Given the description of an element on the screen output the (x, y) to click on. 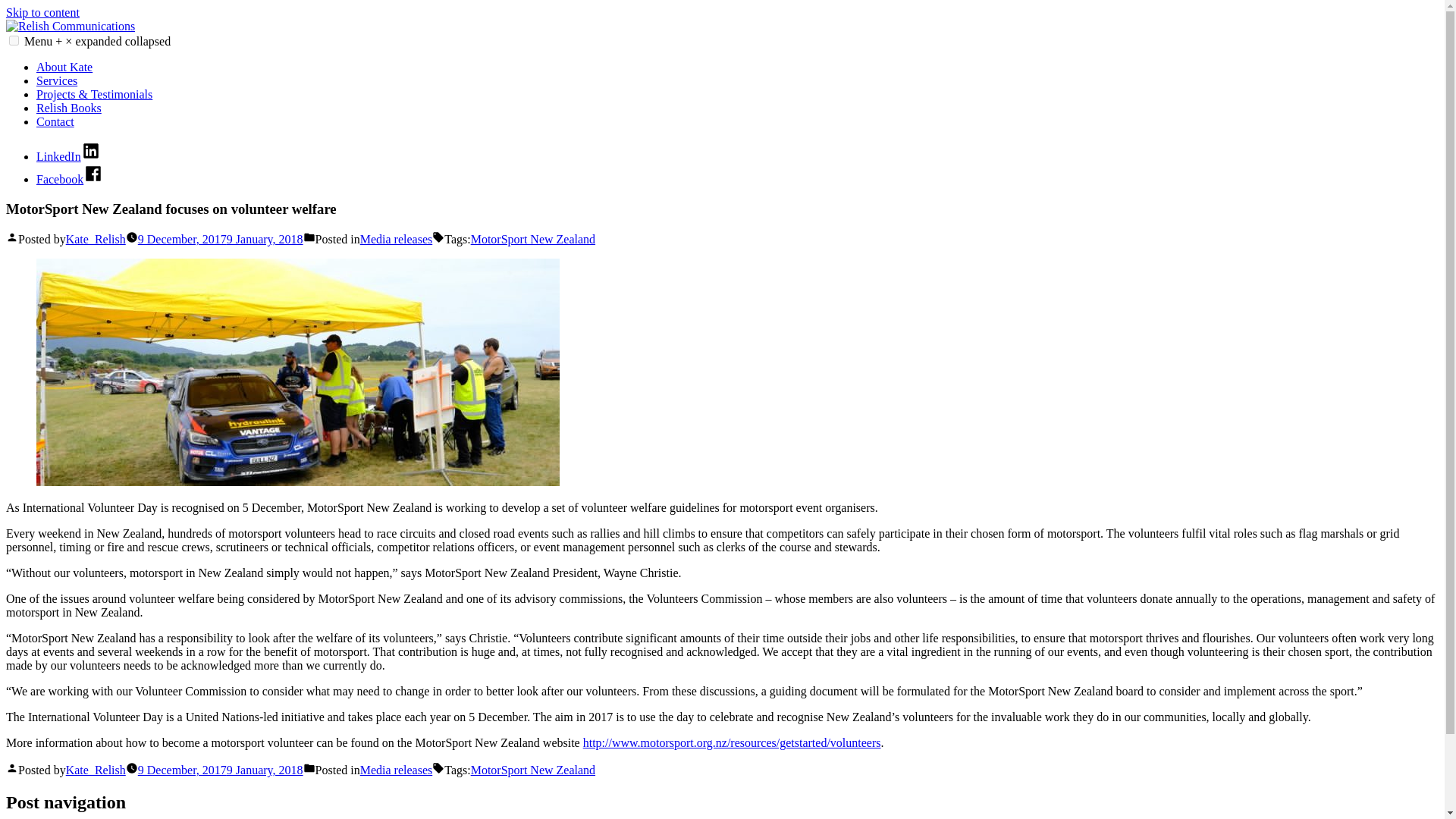
MotorSport New Zealand (532, 238)
on (13, 40)
Skip to content (42, 11)
About Kate (64, 66)
Services (56, 80)
Contact (55, 121)
Media releases (395, 238)
Facebook (69, 178)
9 December, 20179 January, 2018 (220, 238)
Relish Communications (63, 51)
